Given the description of an element on the screen output the (x, y) to click on. 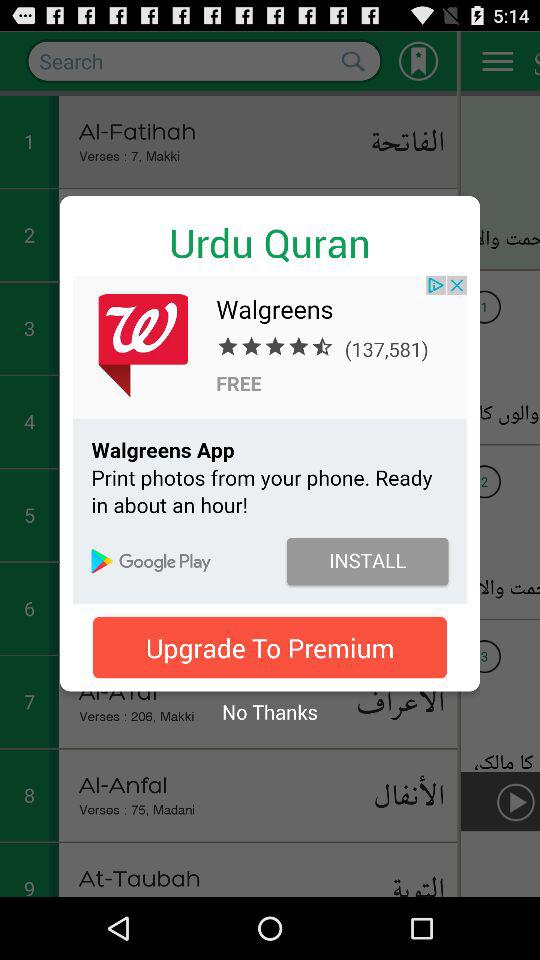
popup advertisement (269, 439)
